Given the description of an element on the screen output the (x, y) to click on. 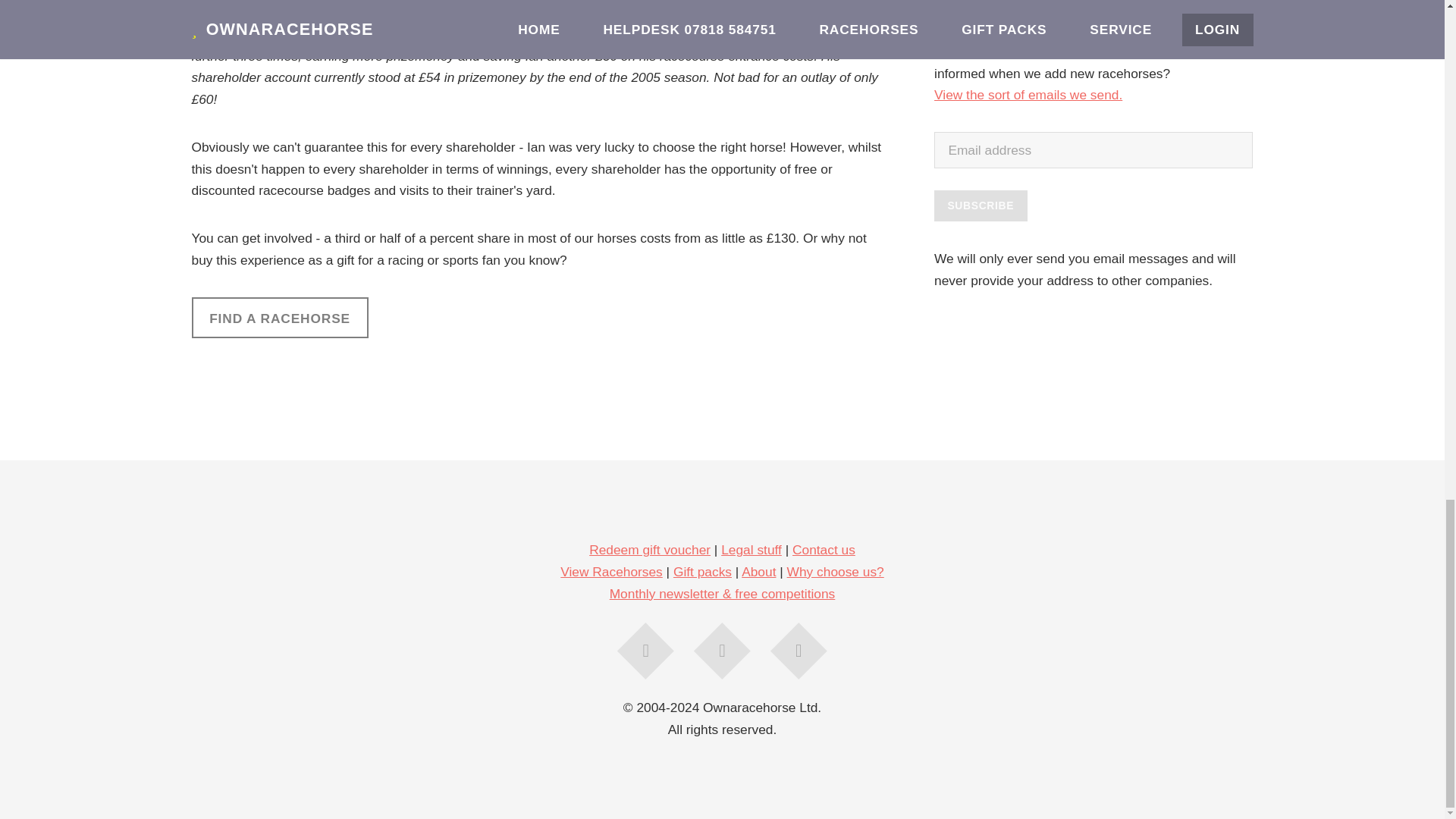
View previous campaigns (1028, 94)
Subscribe (980, 205)
